Given the description of an element on the screen output the (x, y) to click on. 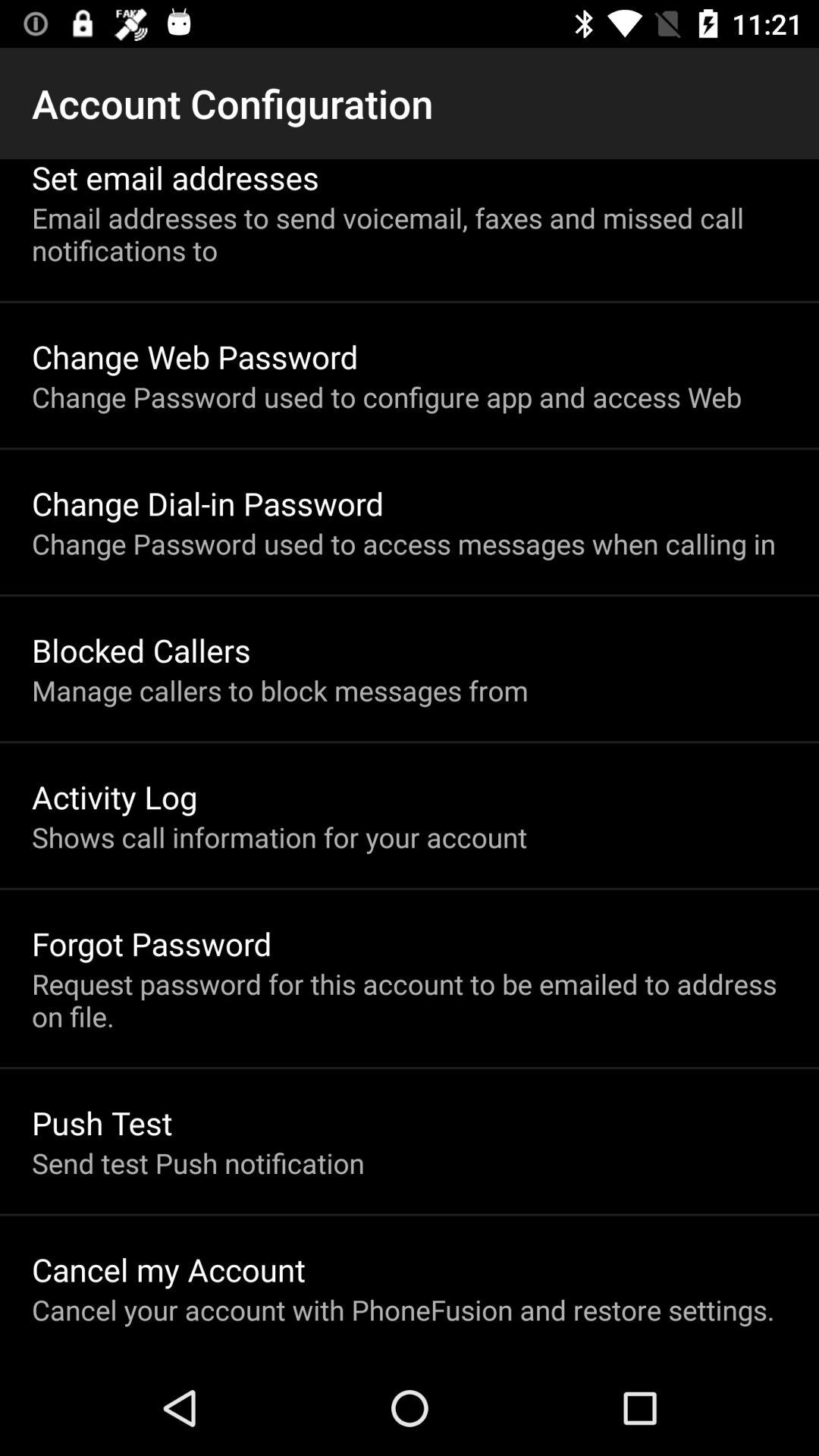
jump until the activity log icon (114, 796)
